Given the description of an element on the screen output the (x, y) to click on. 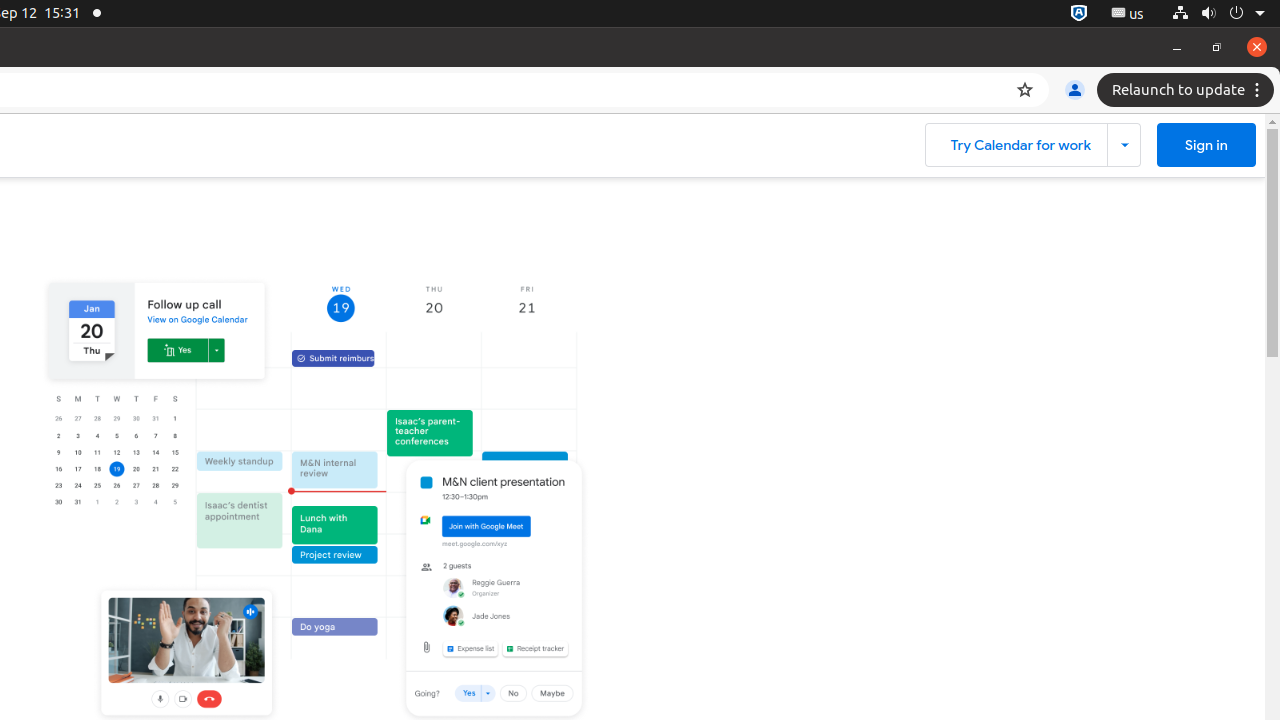
Sign in to use Google Calendar Element type: link (1206, 145)
System Element type: menu (1218, 13)
:1.21/StatusNotifierItem Element type: menu (1127, 13)
Relaunch to update Element type: push-button (1188, 90)
:1.72/StatusNotifierItem Element type: menu (1079, 13)
